Given the description of an element on the screen output the (x, y) to click on. 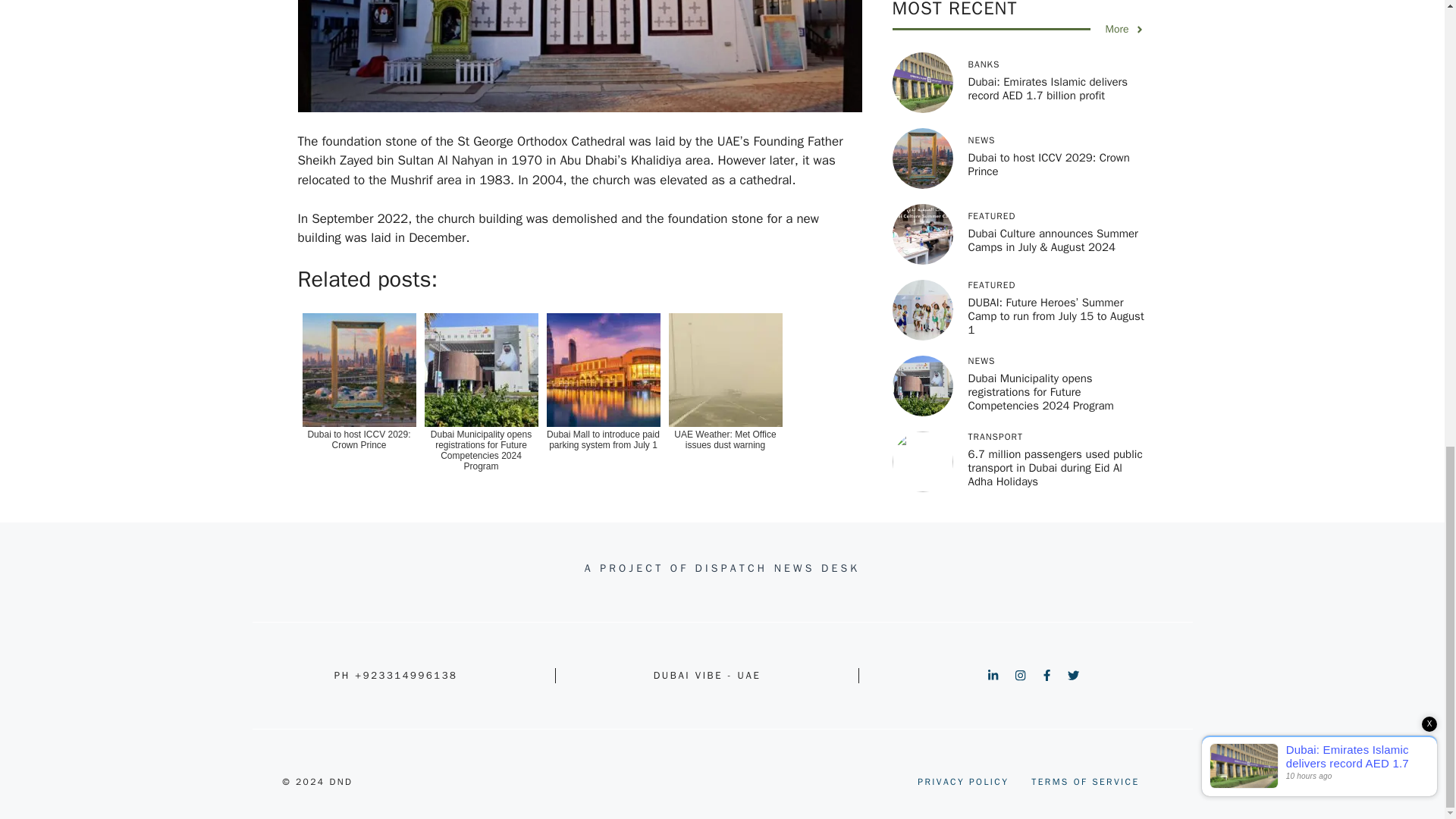
Dubai to host ICCV 2029: Crown Prince (358, 398)
UAE Weather: Met Office issues dust warning (725, 398)
Dubai Mall to introduce paid parking system from July 1 (602, 398)
